Given the description of an element on the screen output the (x, y) to click on. 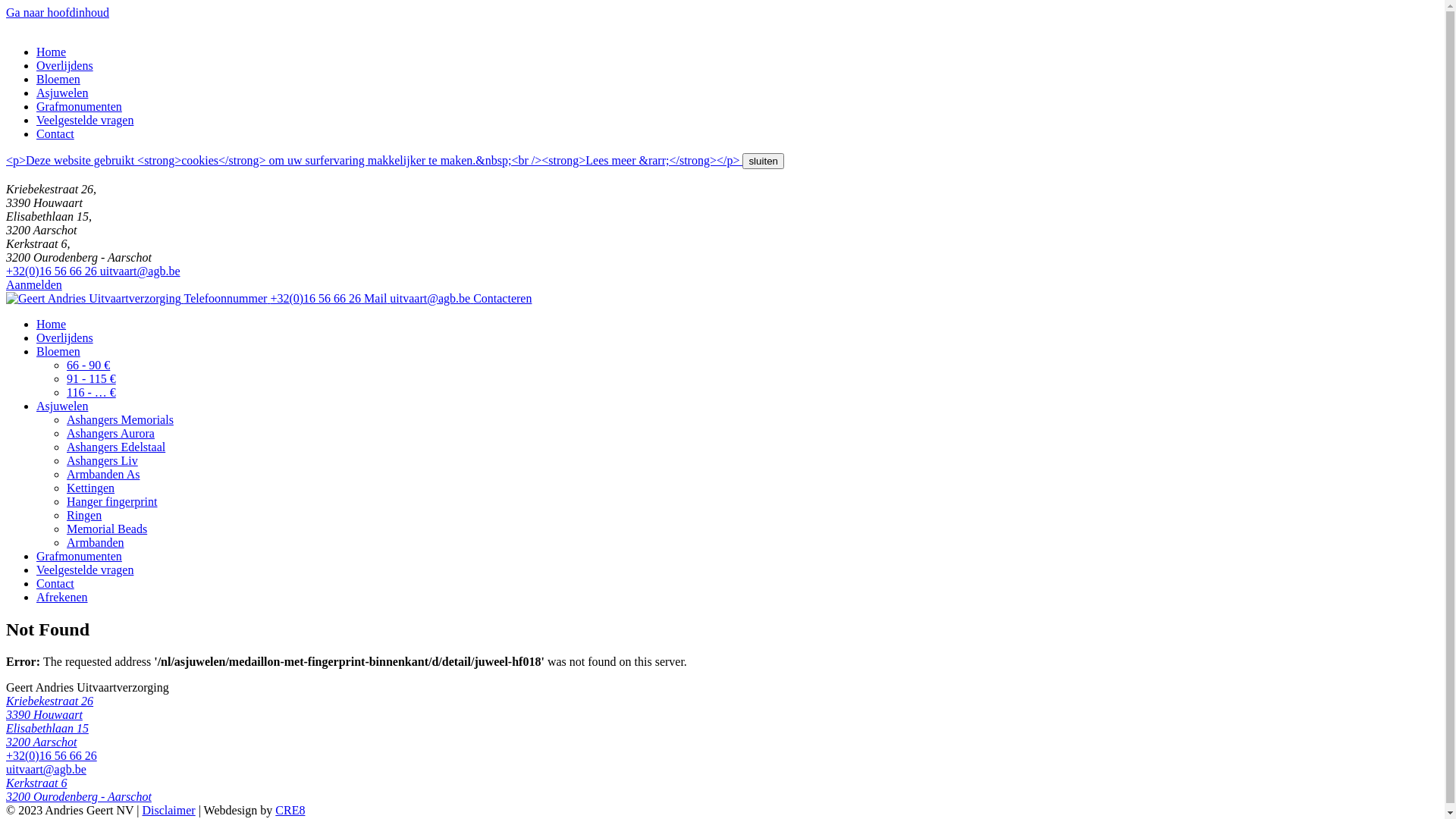
Home Element type: text (50, 51)
Grafmonumenten Element type: text (79, 106)
Bloemen Element type: text (58, 351)
Veelgestelde vragen Element type: text (84, 569)
Aanmelden Element type: text (34, 284)
CRE8 Element type: text (289, 809)
Bloemen Element type: text (58, 78)
uitvaart@agb.be Element type: text (46, 768)
Kriebekestraat 26
3390 Houwaart Element type: text (722, 707)
Afrekenen Element type: text (61, 596)
Armbanden As Element type: text (102, 473)
Grafmonumenten Element type: text (79, 555)
Ringen Element type: text (83, 514)
Contact Element type: text (55, 583)
Disclaimer Element type: text (167, 809)
Ashangers Edelstaal Element type: text (115, 446)
Home Element type: text (50, 323)
Kerkstraat 6
3200 Ourodenberg - Aarschot Element type: text (722, 789)
Ga naar hoofdinhoud Element type: text (57, 12)
Elisabethlaan 15
3200 Aarschot Element type: text (722, 735)
Telefoonnummer +32(0)16 56 66 26 Element type: text (273, 297)
Overlijdens Element type: text (64, 337)
Ashangers Liv Element type: text (102, 460)
Armbanden Element type: text (95, 542)
Asjuwelen Element type: text (61, 92)
Ashangers Aurora Element type: text (110, 432)
uitvaart@agb.be Element type: text (140, 270)
Asjuwelen Element type: text (61, 405)
Veelgestelde vragen Element type: text (84, 119)
+32(0)16 56 66 26 Element type: text (53, 270)
Contacteren Element type: text (502, 297)
Overlijdens Element type: text (64, 65)
Contact Element type: text (55, 133)
Hanger fingerprint Element type: text (111, 501)
Memorial Beads Element type: text (106, 528)
Ashangers Memorials Element type: text (119, 419)
+32(0)16 56 66 26 Element type: text (51, 755)
Kettingen Element type: text (90, 487)
sluiten Element type: text (763, 161)
Mail uitvaart@agb.be Element type: text (418, 297)
